Given the description of an element on the screen output the (x, y) to click on. 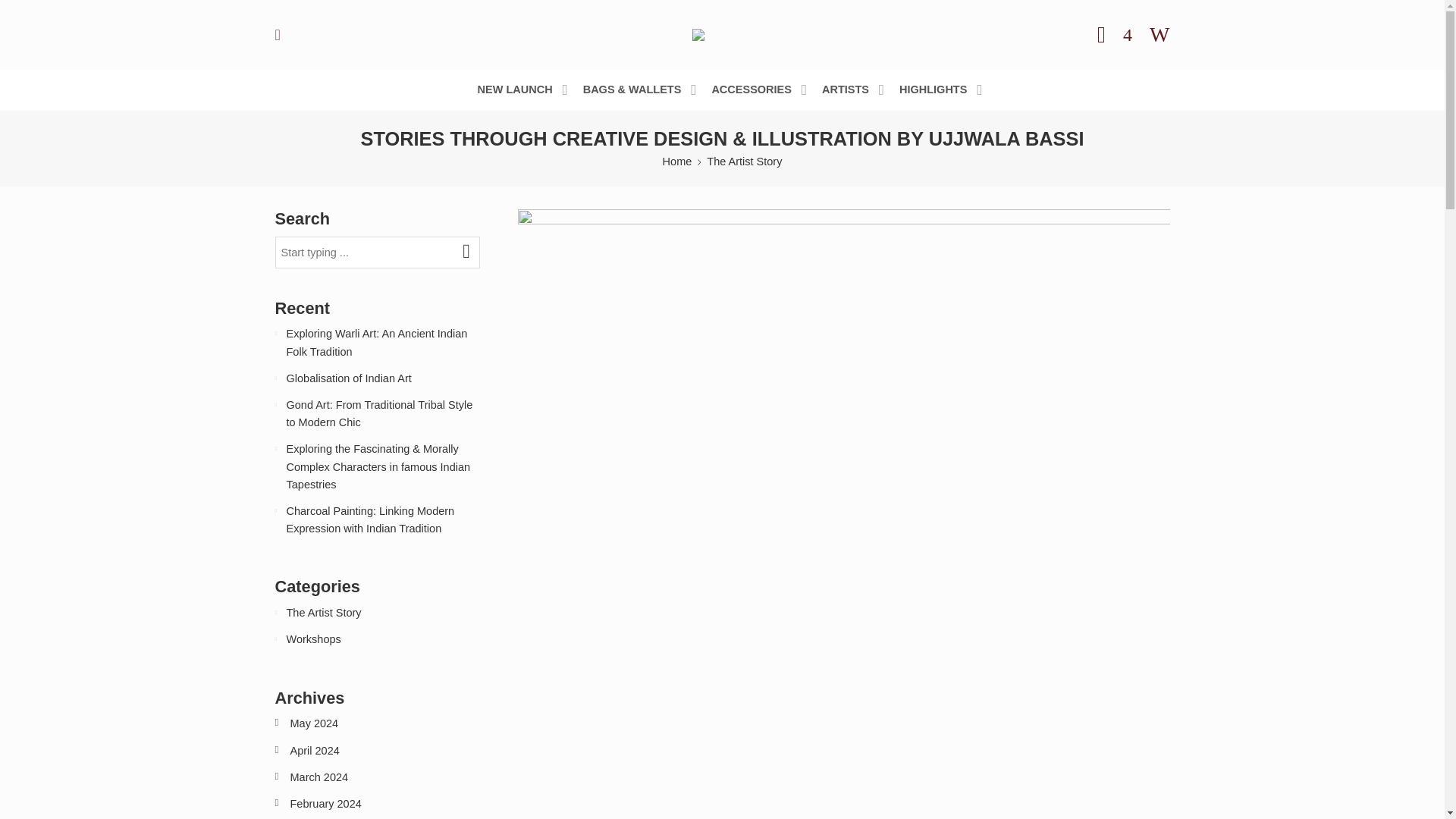
Home (677, 161)
ACCESSORIES (751, 89)
The Artist Story (743, 161)
Home (677, 161)
NEW LAUNCH (515, 89)
ACCESSORIES (751, 89)
HIGHLIGHTS (932, 89)
Search (1159, 34)
ARTISTS (845, 89)
ARTISTS (845, 89)
